Given the description of an element on the screen output the (x, y) to click on. 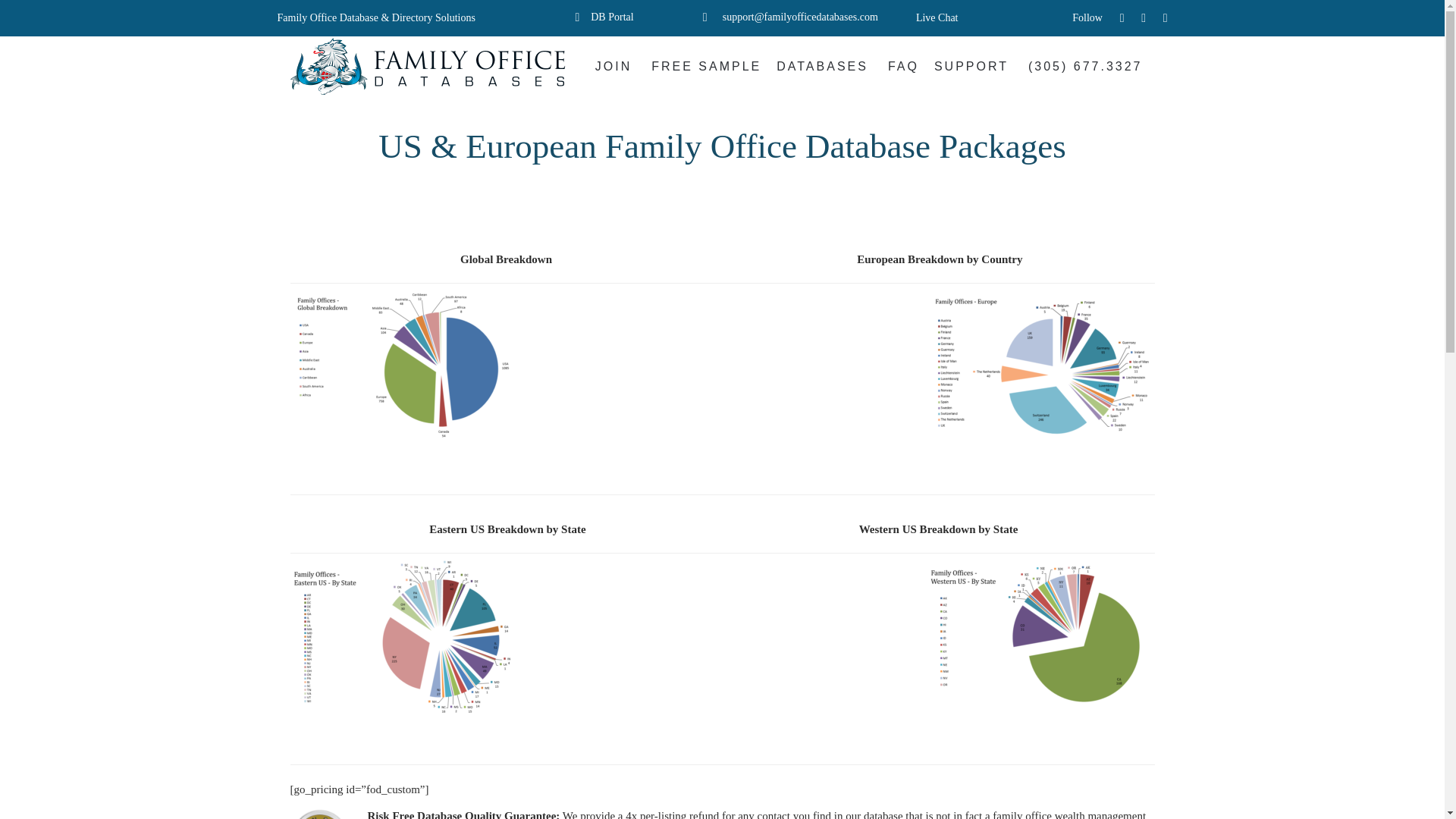
DB Portal (612, 17)
JOIN (615, 66)
DATABASES (824, 66)
FREE SAMPLE (705, 66)
Family Office Databases (429, 66)
Live Chat (936, 18)
